Given the description of an element on the screen output the (x, y) to click on. 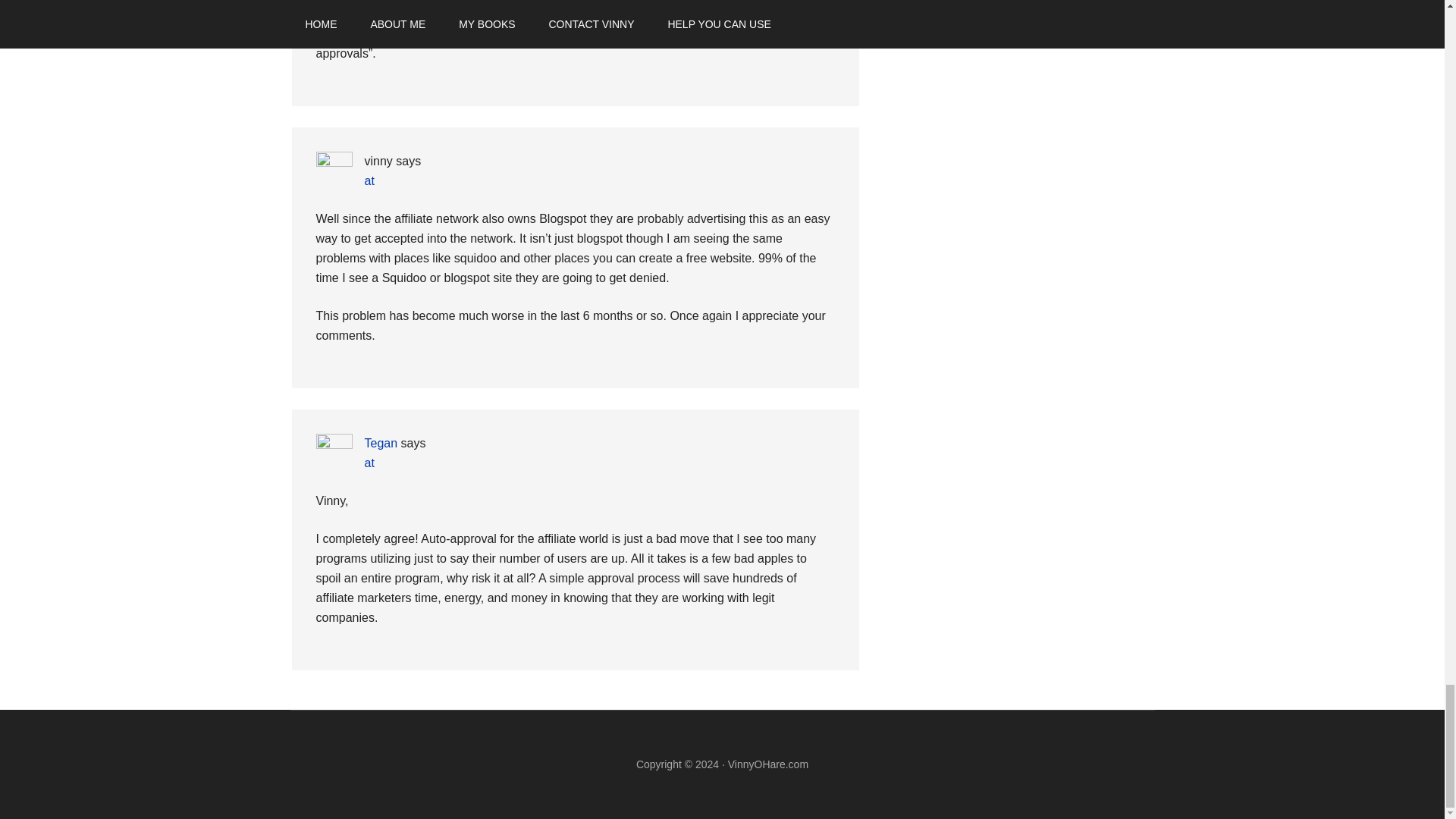
at (369, 180)
Tegan (380, 442)
at (369, 462)
